Given the description of an element on the screen output the (x, y) to click on. 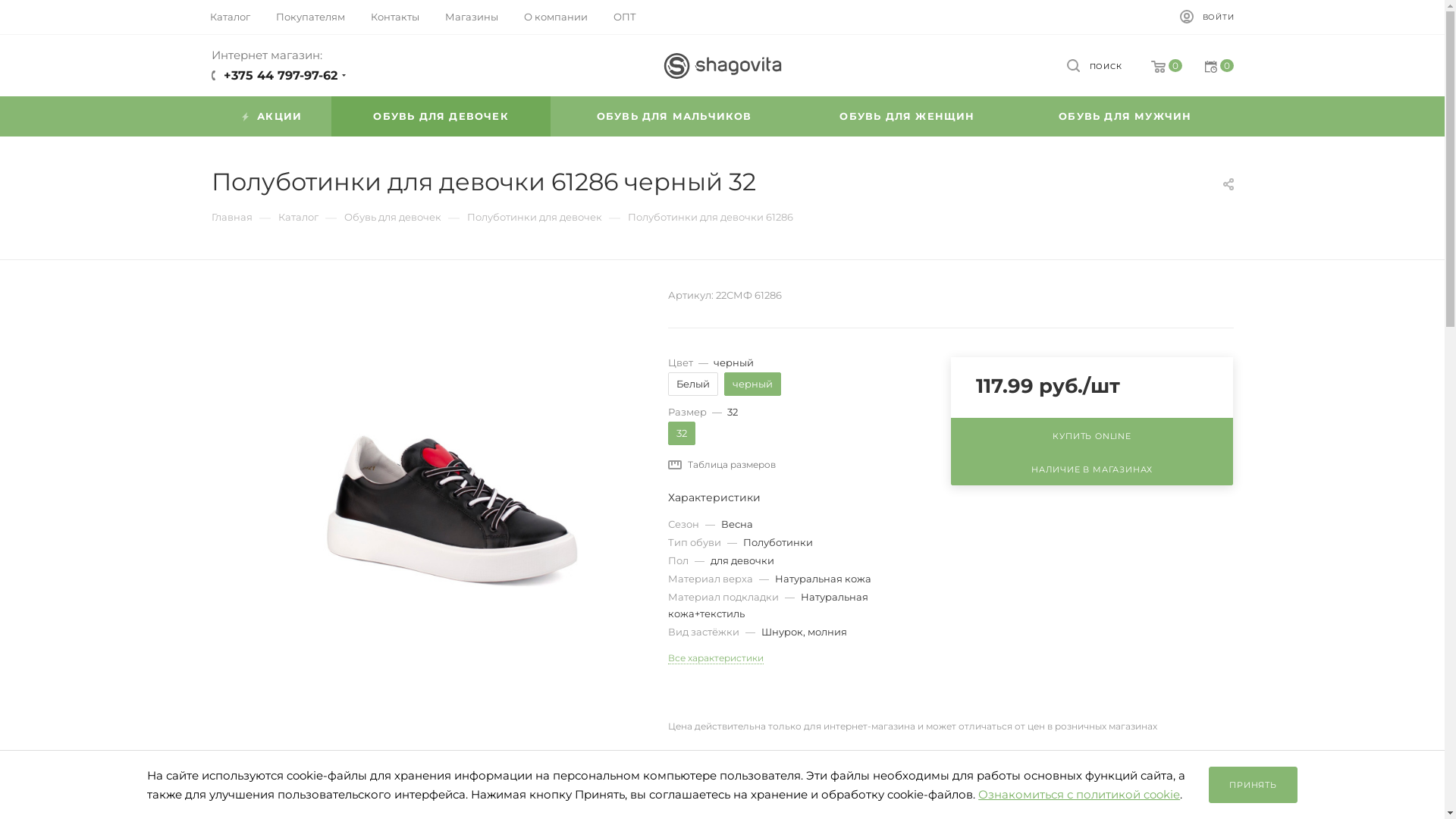
0 Element type: text (1155, 66)
0 Element type: text (1207, 66)
image Element type: hover (450, 475)
+375 44 797-97-62 Element type: text (279, 75)
